Given the description of an element on the screen output the (x, y) to click on. 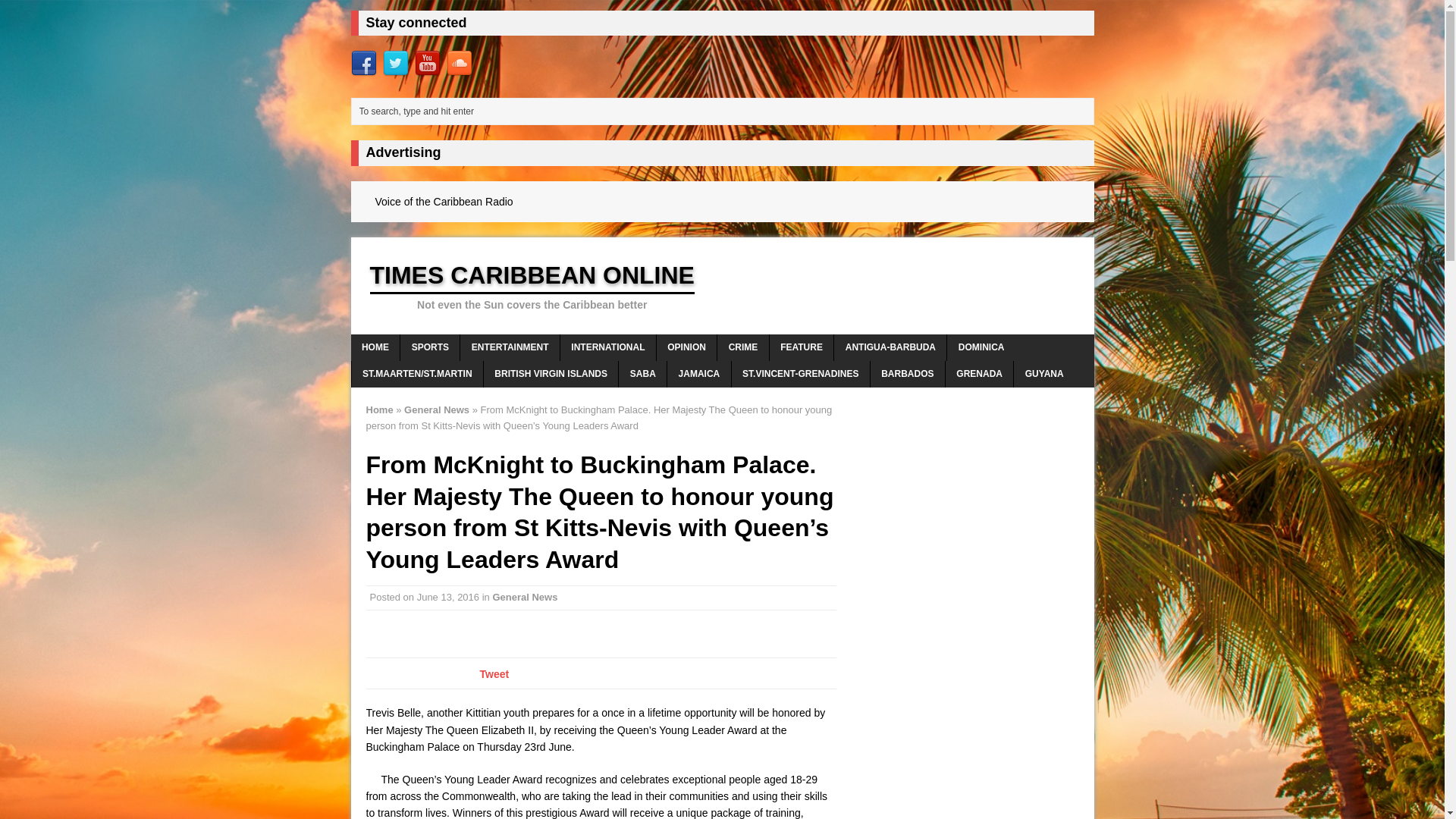
SPORTS (430, 347)
CRIME (742, 347)
BRITISH VIRGIN ISLANDS (550, 374)
OPINION (686, 347)
FEATURE (802, 347)
INTERNATIONAL (608, 347)
To search, type and hit enter (725, 111)
ENTERTAINMENT (509, 347)
Times Caribbean Online (721, 285)
DOMINICA (980, 347)
HOME (374, 347)
ANTIGUA-BARBUDA (890, 347)
